Given the description of an element on the screen output the (x, y) to click on. 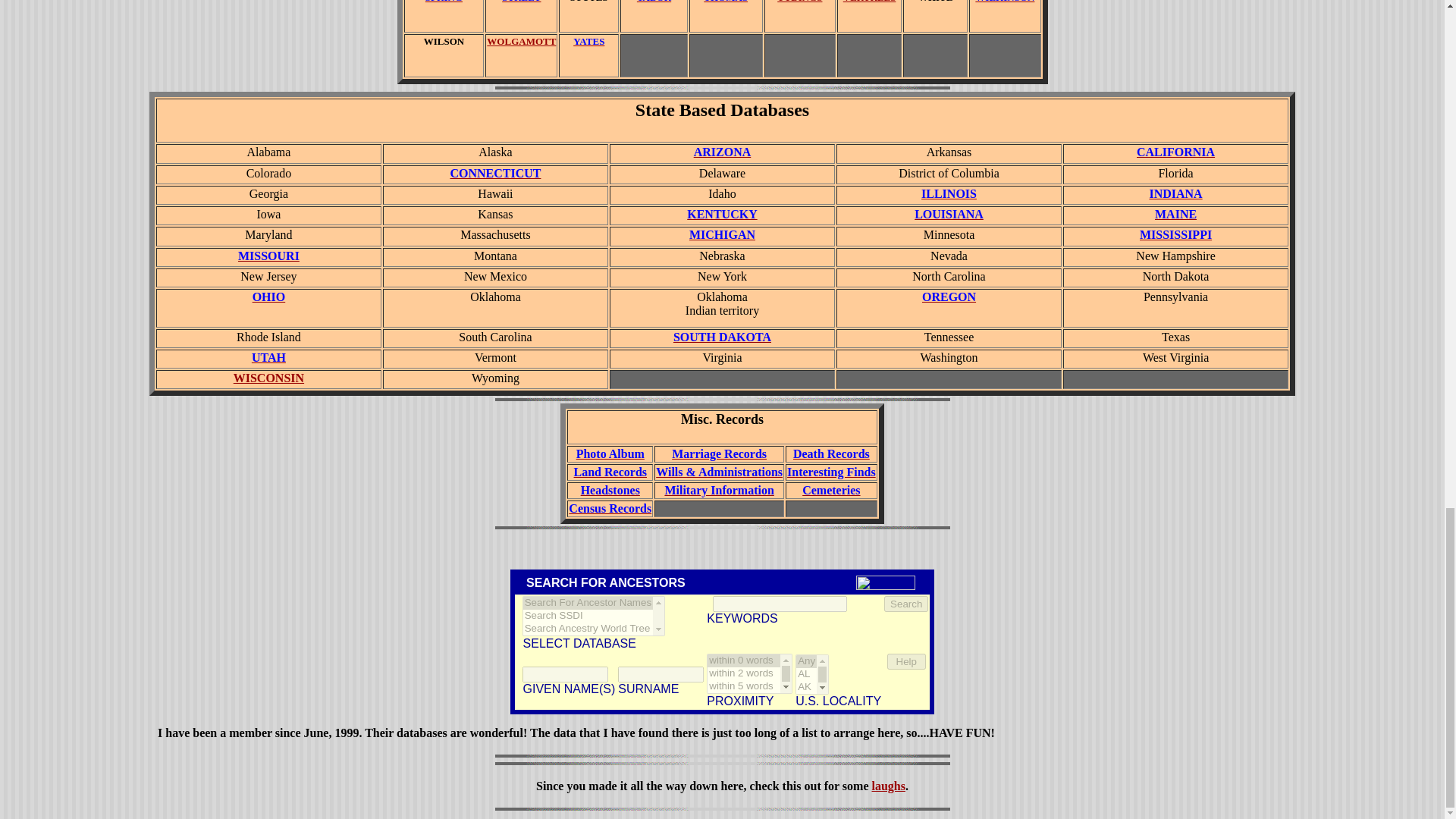
Search (905, 603)
 Help  (906, 661)
